Given the description of an element on the screen output the (x, y) to click on. 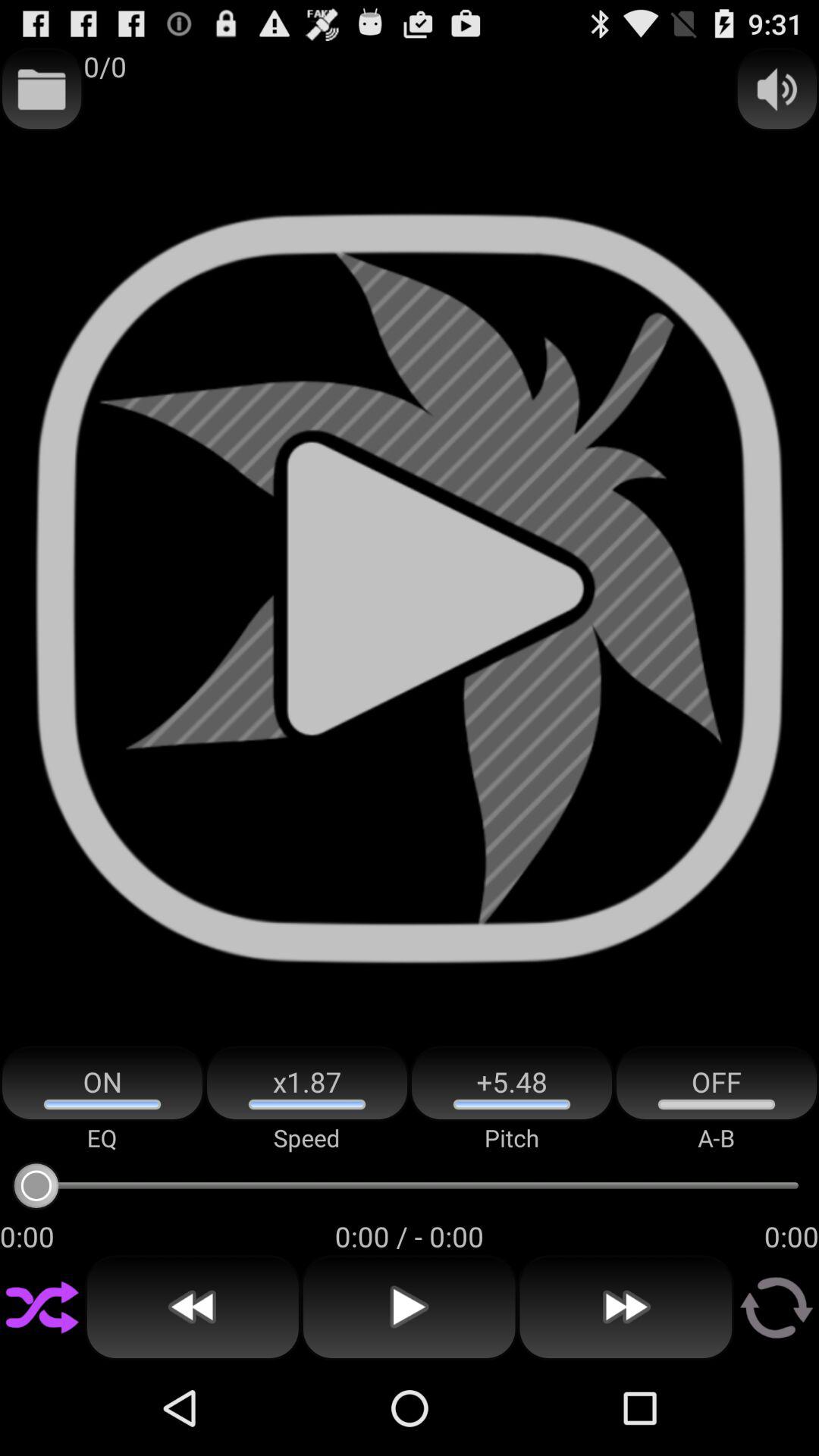
choose app next to 0/0 item (41, 89)
